Given the description of an element on the screen output the (x, y) to click on. 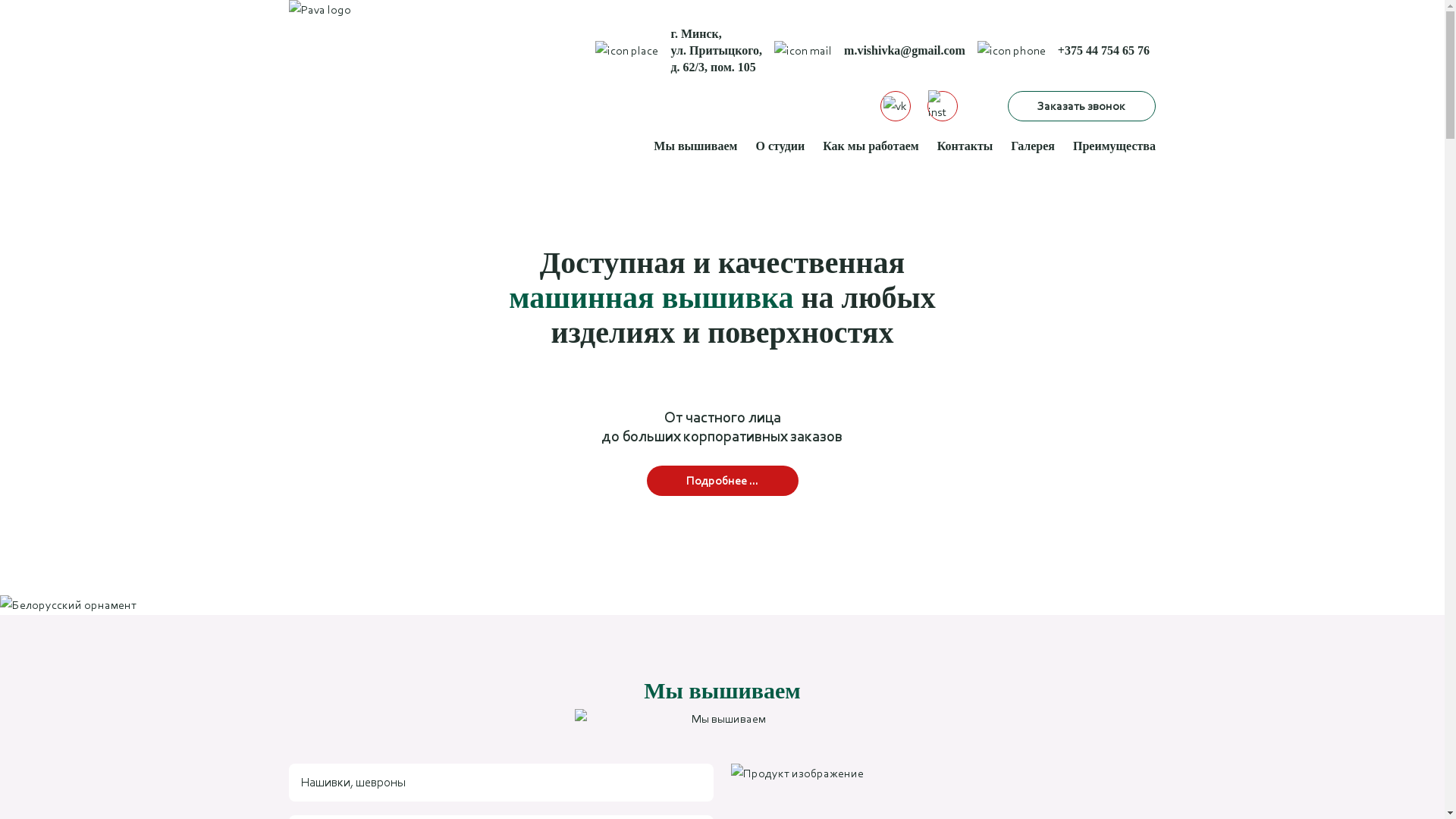
375 44 754 65 76 Element type: text (1106, 49)
+ Element type: text (1060, 49)
Pava logo Element type: hover (375, 103)
